Given the description of an element on the screen output the (x, y) to click on. 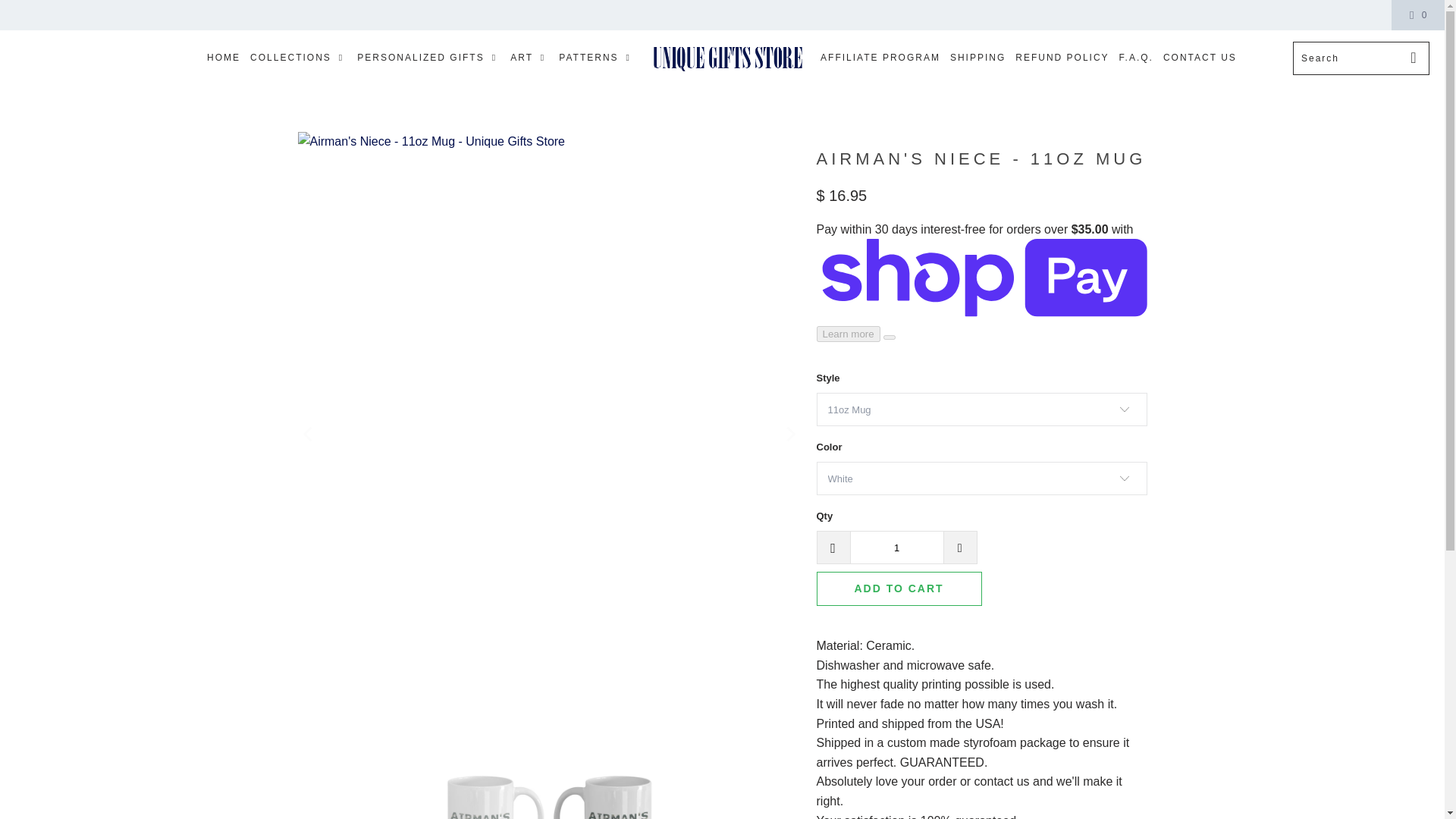
1 (895, 547)
Unique Gifts Store (727, 57)
